Given the description of an element on the screen output the (x, y) to click on. 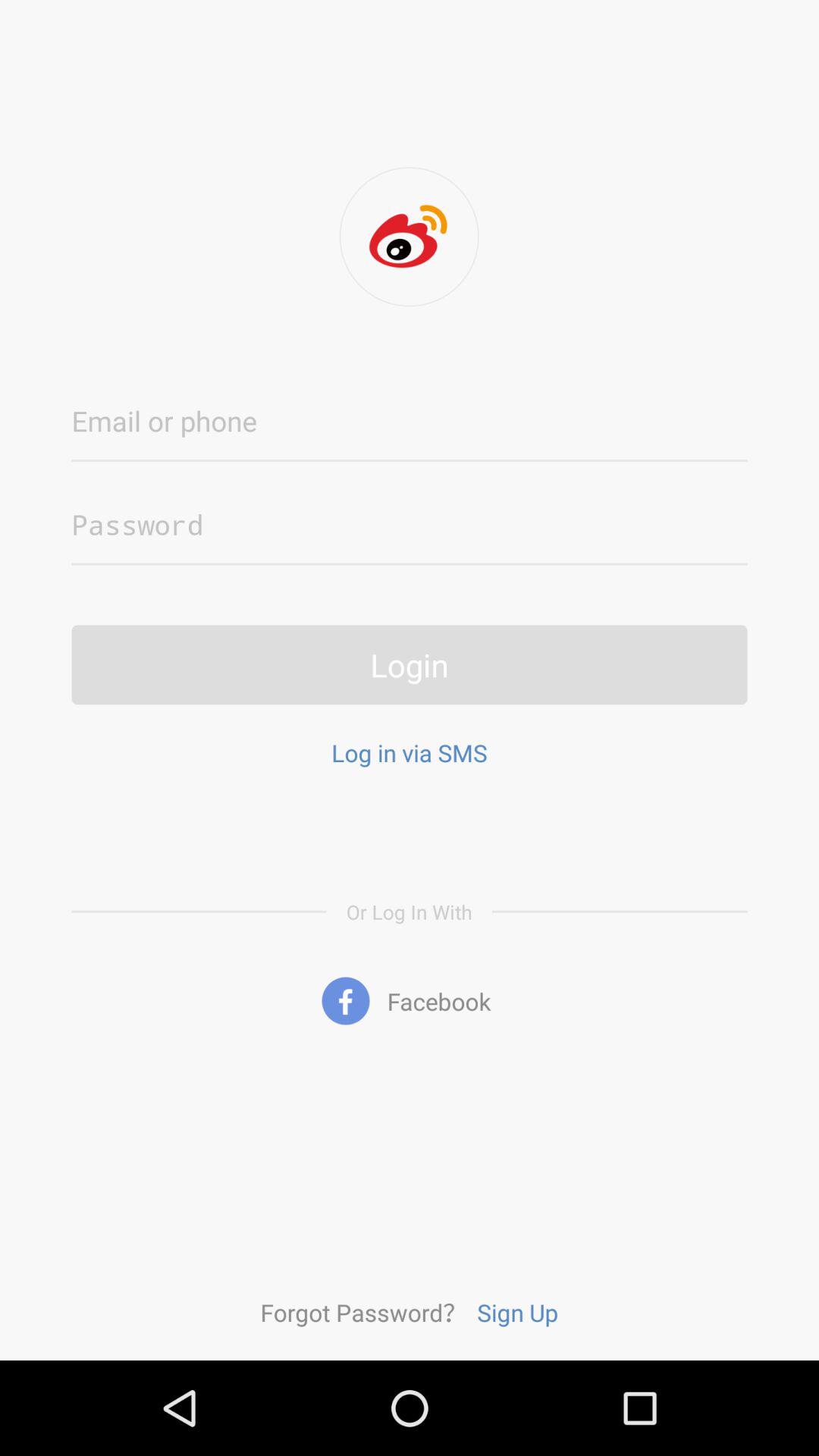
open the icon to the left of sign up icon (363, 1312)
